Given the description of an element on the screen output the (x, y) to click on. 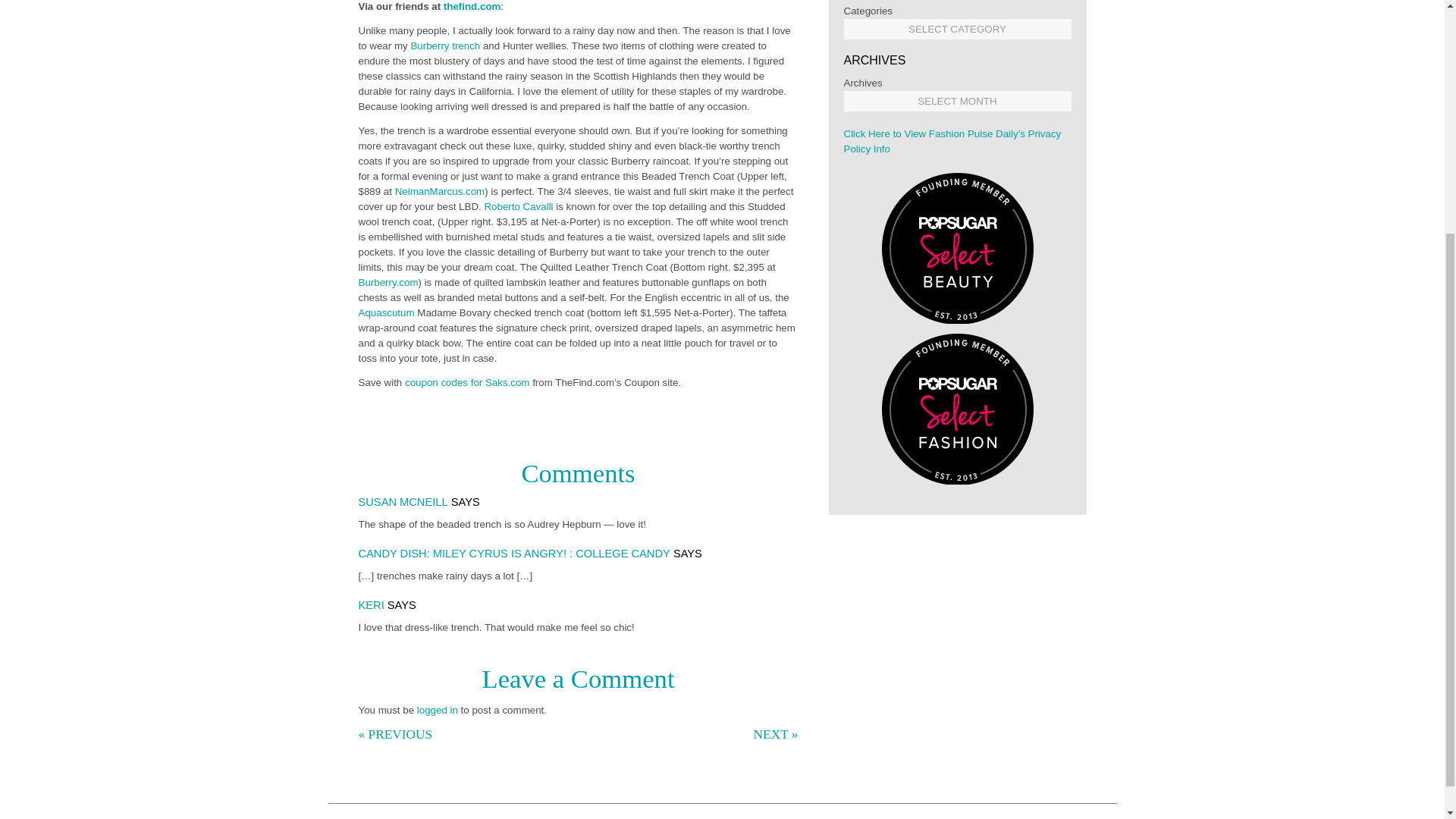
Roberto Cavalli (519, 206)
NeimanMarcus.com (439, 191)
Burberry.com (387, 282)
KERI (371, 604)
logged in (437, 709)
thefind.com (470, 6)
Burberry trench (445, 45)
coupon codes for Saks.com (466, 382)
SUSAN MCNEILL (402, 501)
CANDY DISH: MILEY CYRUS IS ANGRY! : COLLEGE CANDY (513, 553)
Click Here to View Fashion Pulse Daily's Privacy Policy Info (952, 140)
Aquascutum (385, 312)
Log in (437, 709)
